Given the description of an element on the screen output the (x, y) to click on. 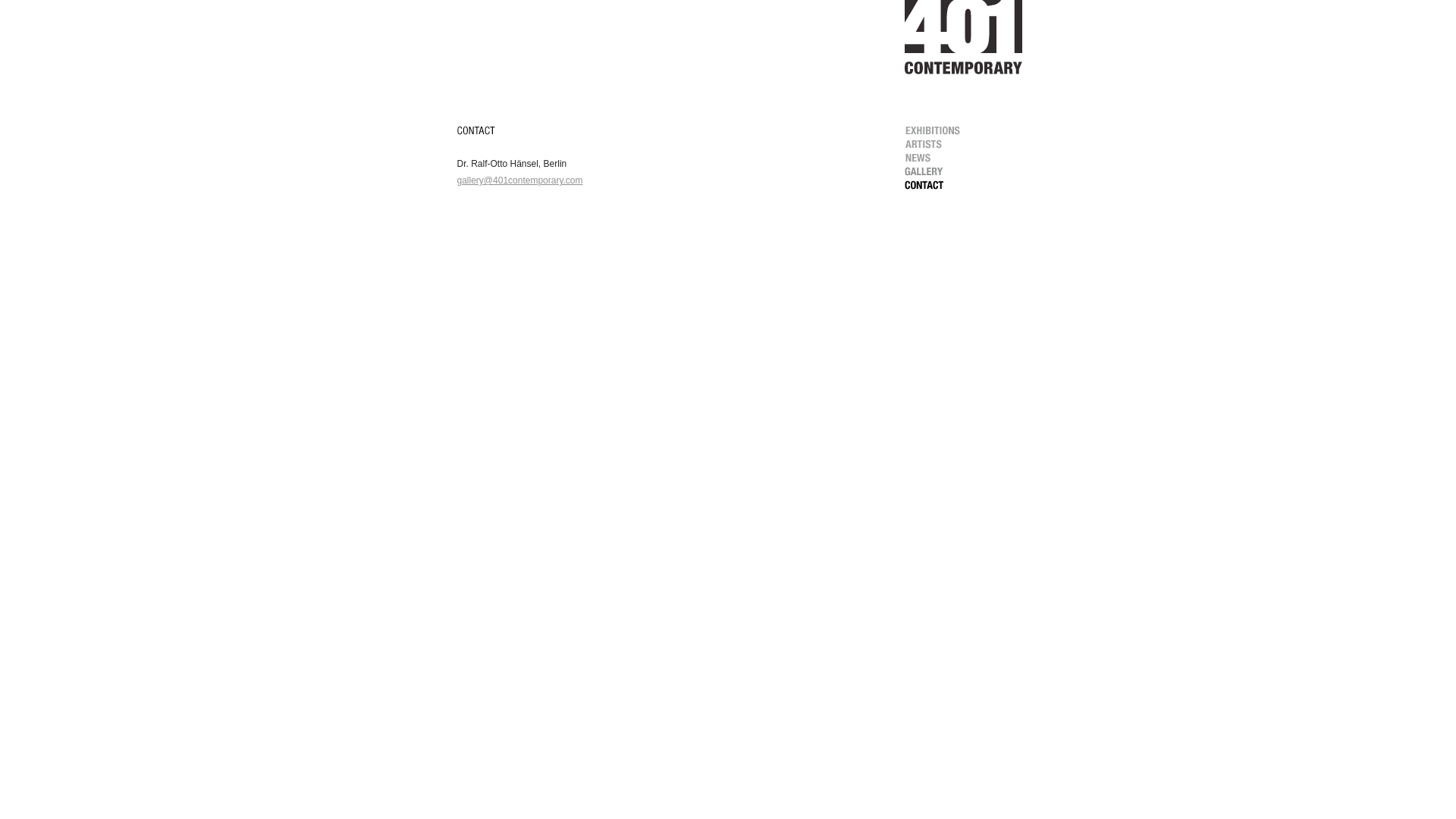
gallery@401contemporary.com Element type: text (519, 180)
